Given the description of an element on the screen output the (x, y) to click on. 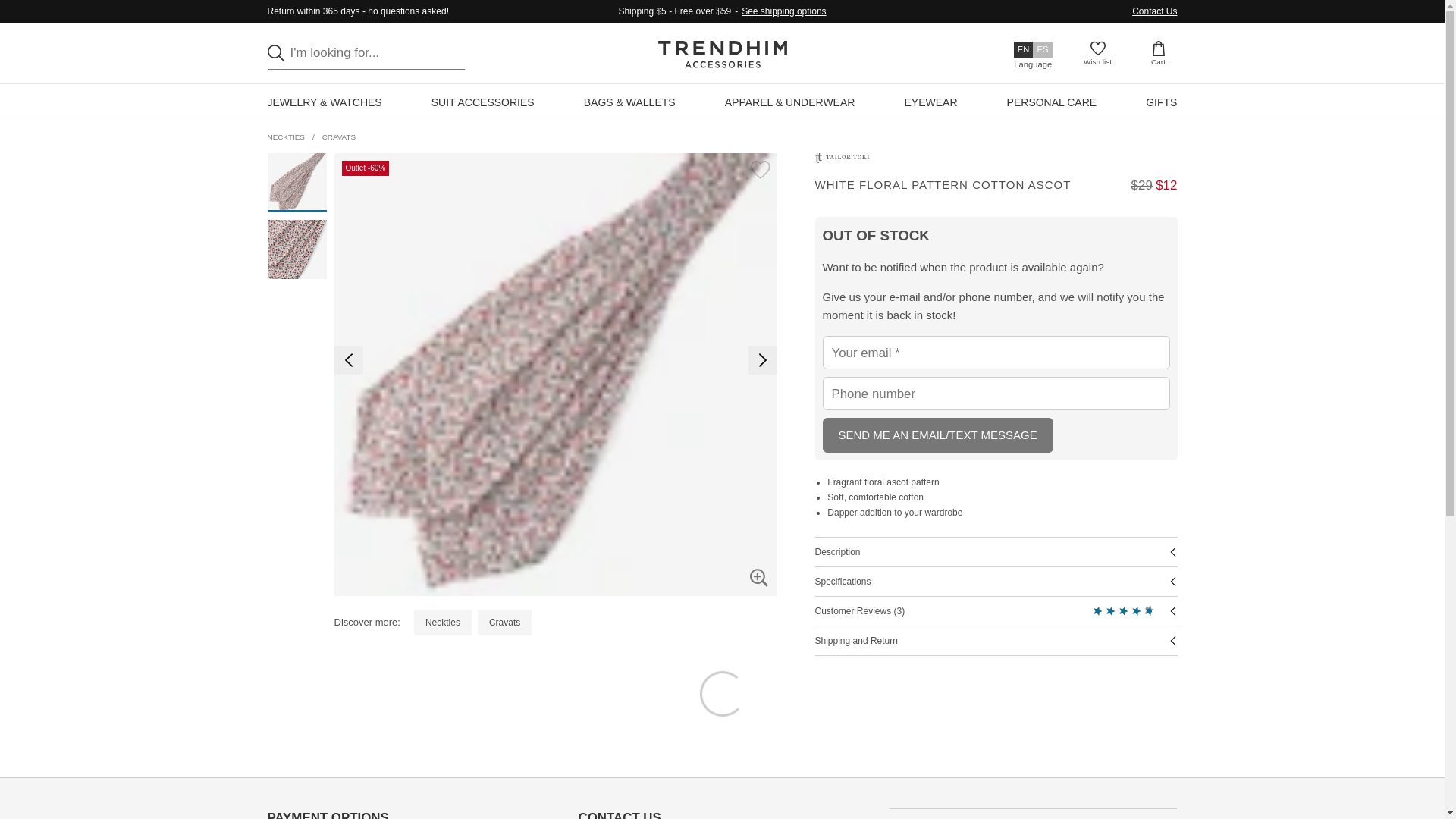
EN (1023, 49)
See shipping options (783, 11)
ES (1041, 49)
Tailor Toki (840, 157)
Wish list (1097, 54)
Cart (1158, 54)
